Given the description of an element on the screen output the (x, y) to click on. 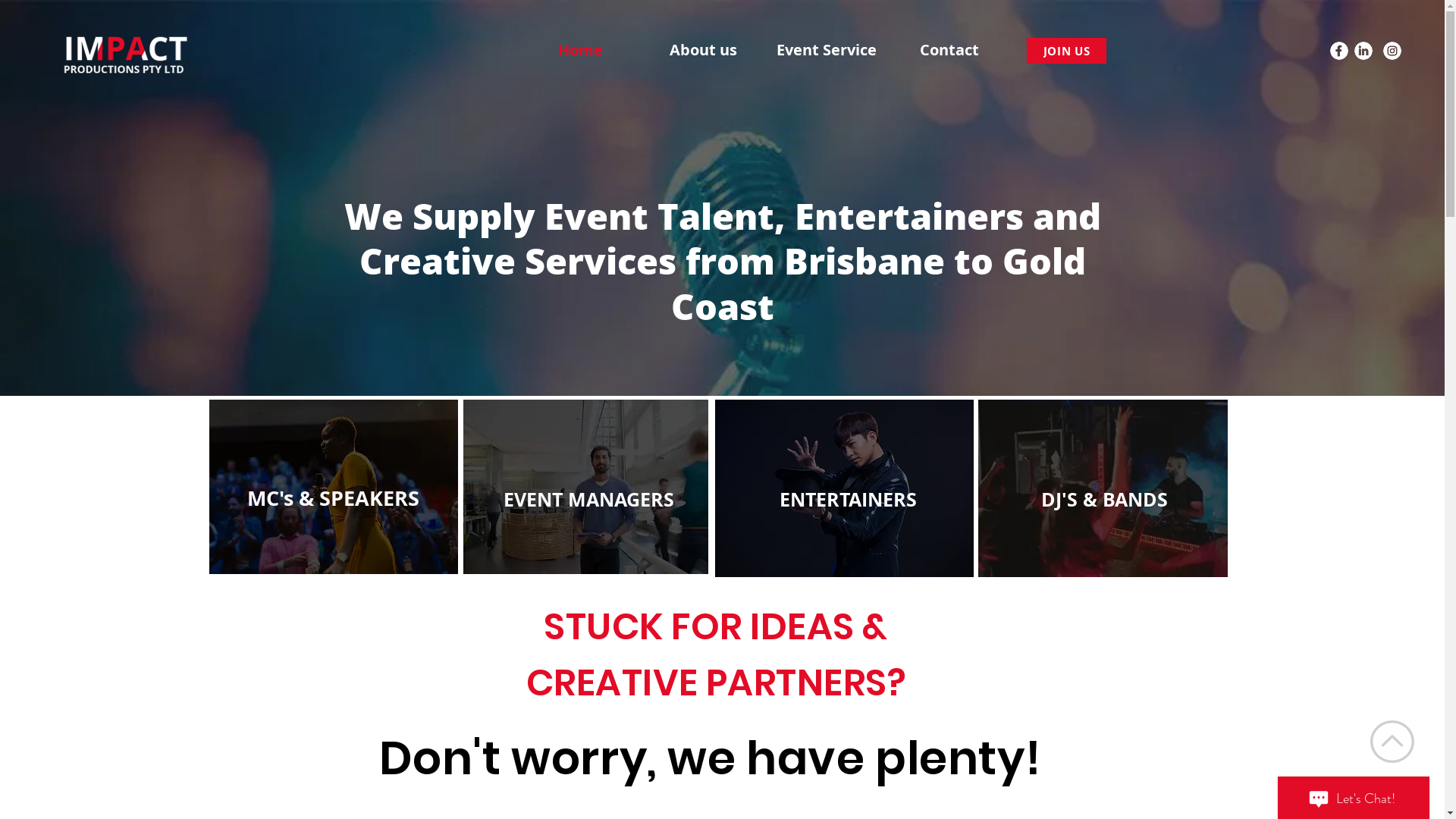
JOIN US Element type: text (1066, 50)
About us Element type: text (703, 50)
Contact Element type: text (949, 50)
Home Element type: text (580, 50)
Event Service Element type: text (826, 50)
